Given the description of an element on the screen output the (x, y) to click on. 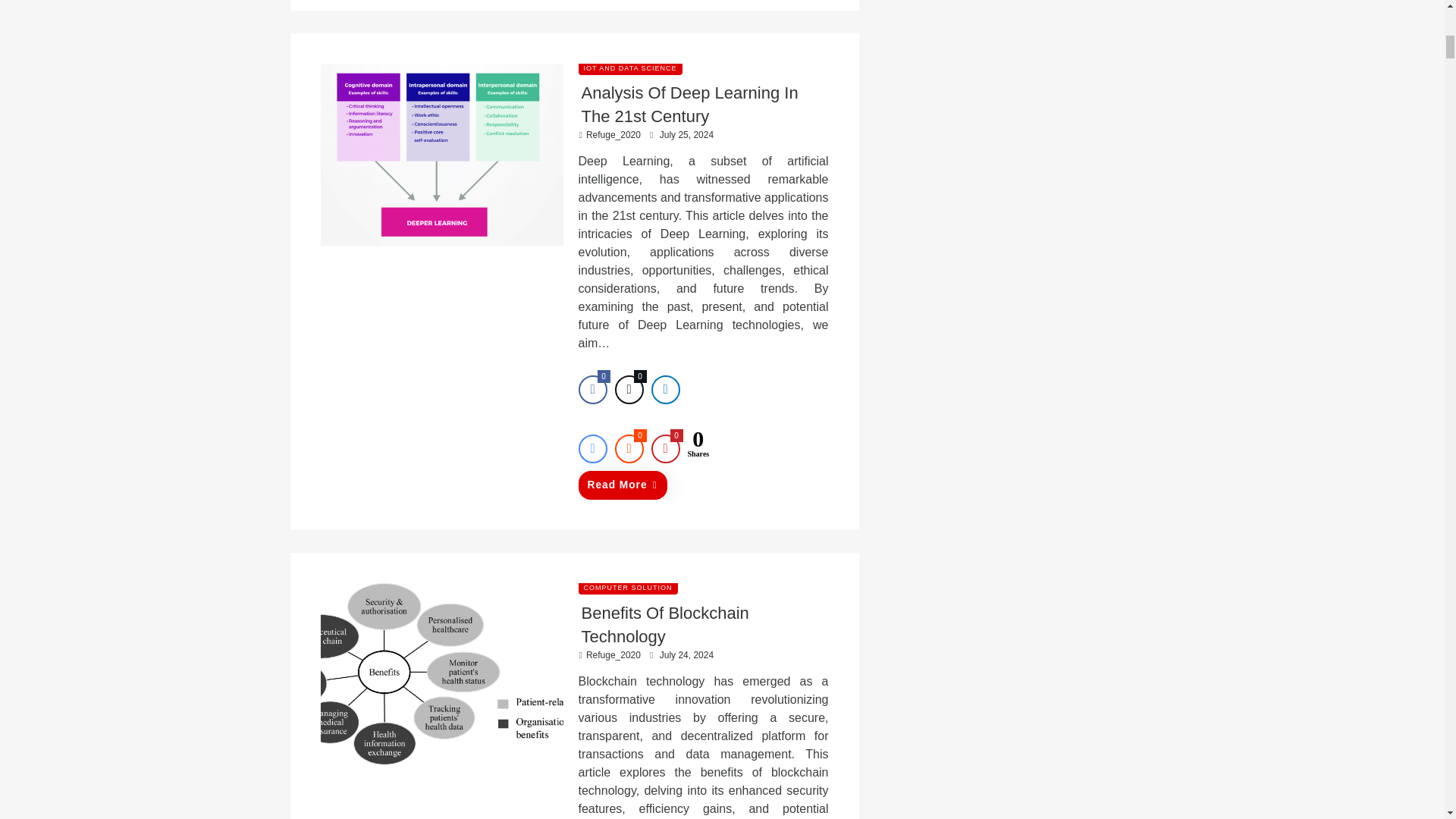
Analysis Of Deep Learning In The 21st Century 4 (441, 154)
Benefits Of Blockchain Technology 5 (441, 673)
